Given the description of an element on the screen output the (x, y) to click on. 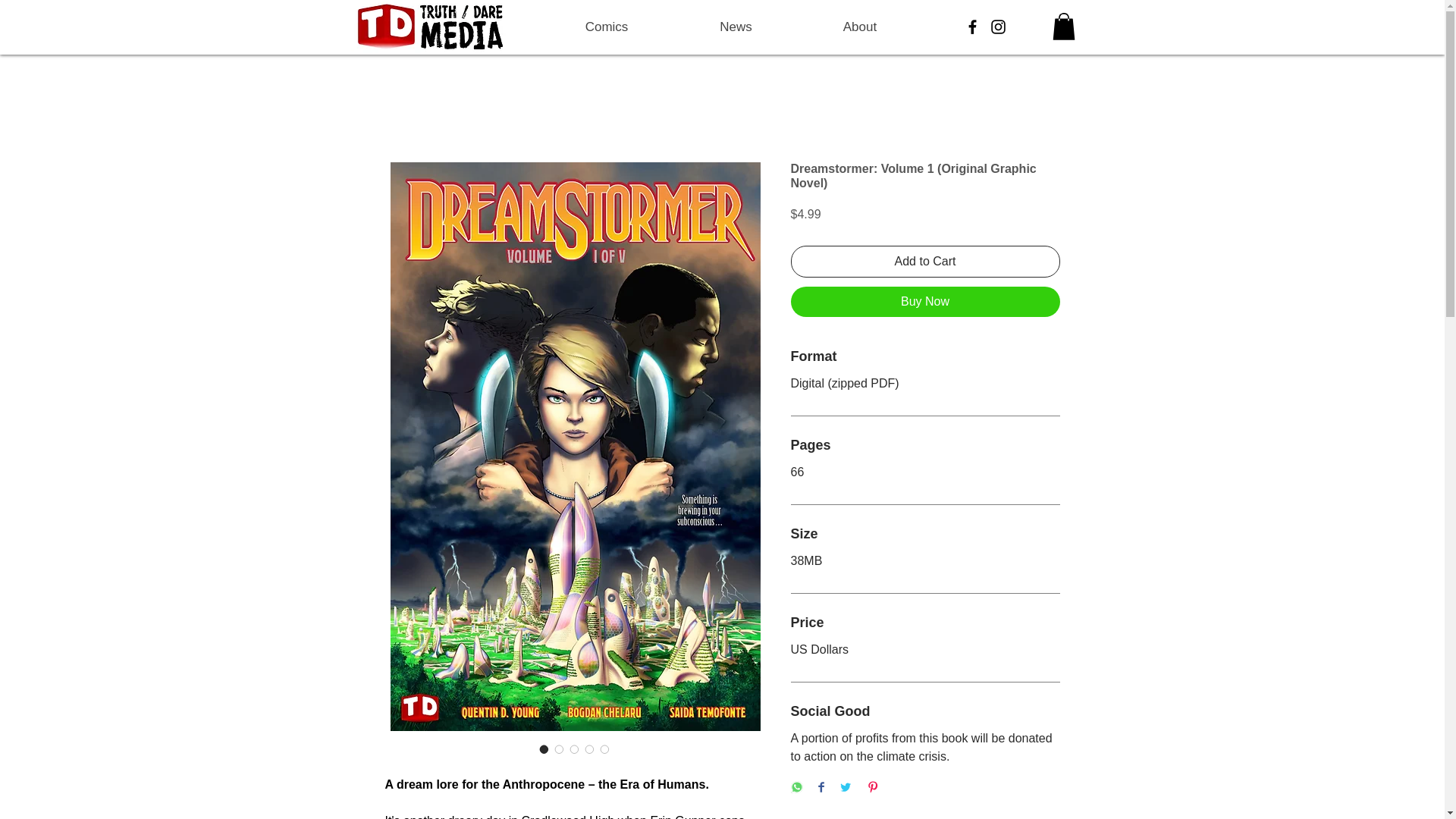
Buy Now (924, 301)
News (734, 27)
Add to Cart (924, 261)
About (859, 27)
Comics (607, 27)
